Given the description of an element on the screen output the (x, y) to click on. 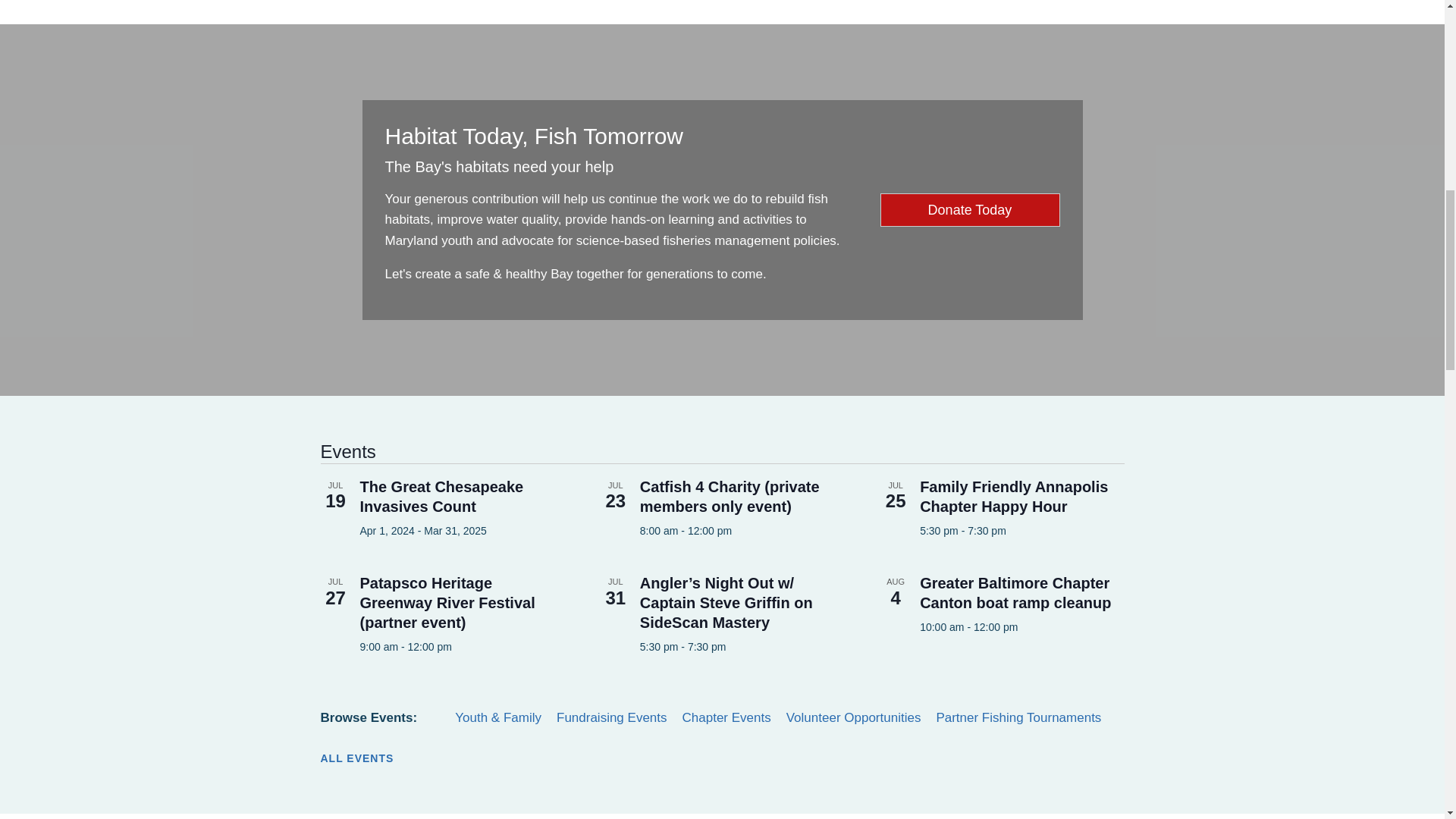
The Great Chesapeake Invasives Count (440, 496)
